Given the description of an element on the screen output the (x, y) to click on. 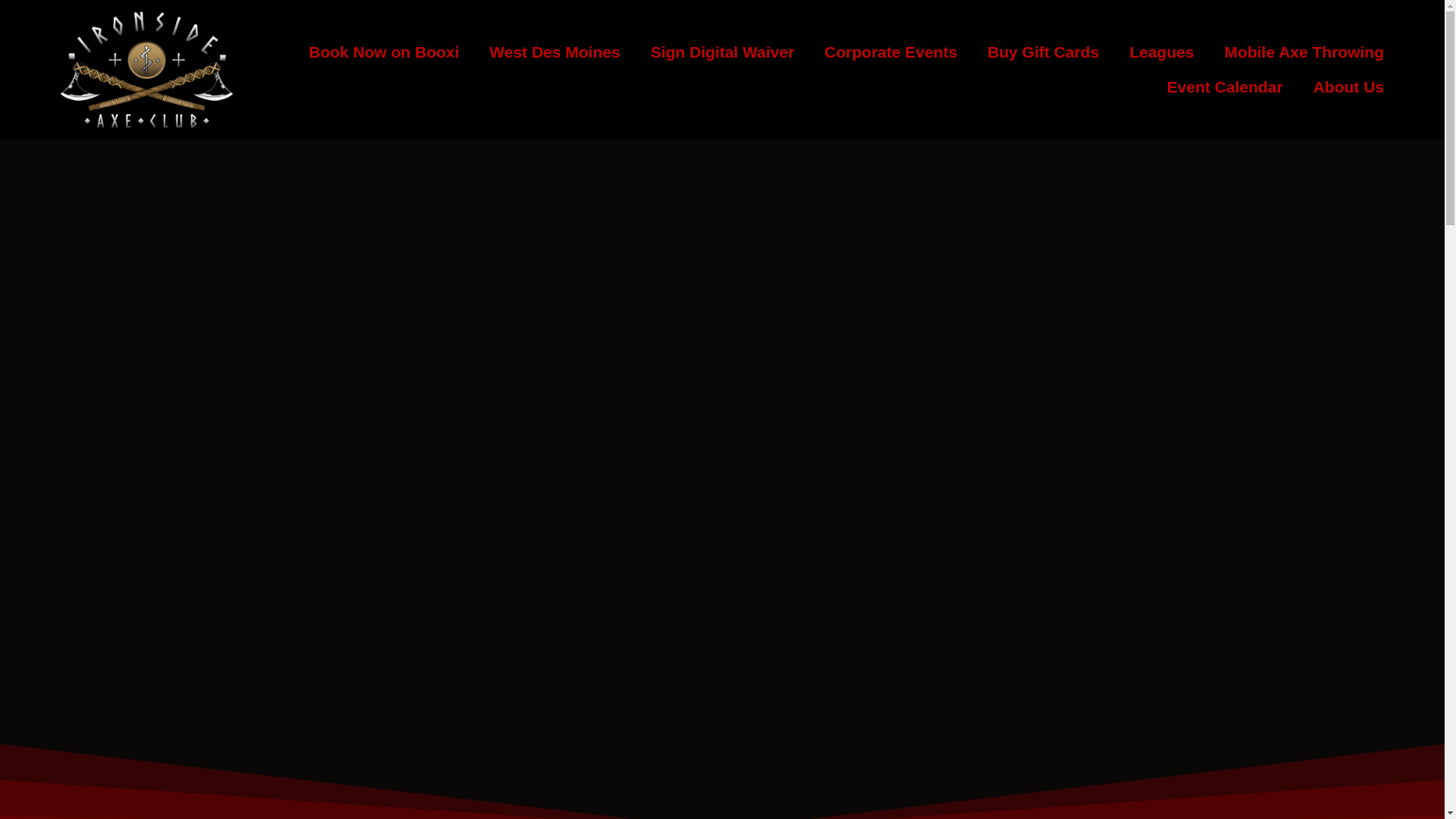
Sign Digital Waiver (721, 52)
Corporate Events (890, 52)
Event Calendar (1224, 86)
Mobile Axe Throwing (1304, 52)
Book Now on Booxi (384, 52)
About Us (1348, 86)
West Des Moines (554, 52)
Leagues (1160, 52)
Buy Gift Cards (1042, 52)
